Given the description of an element on the screen output the (x, y) to click on. 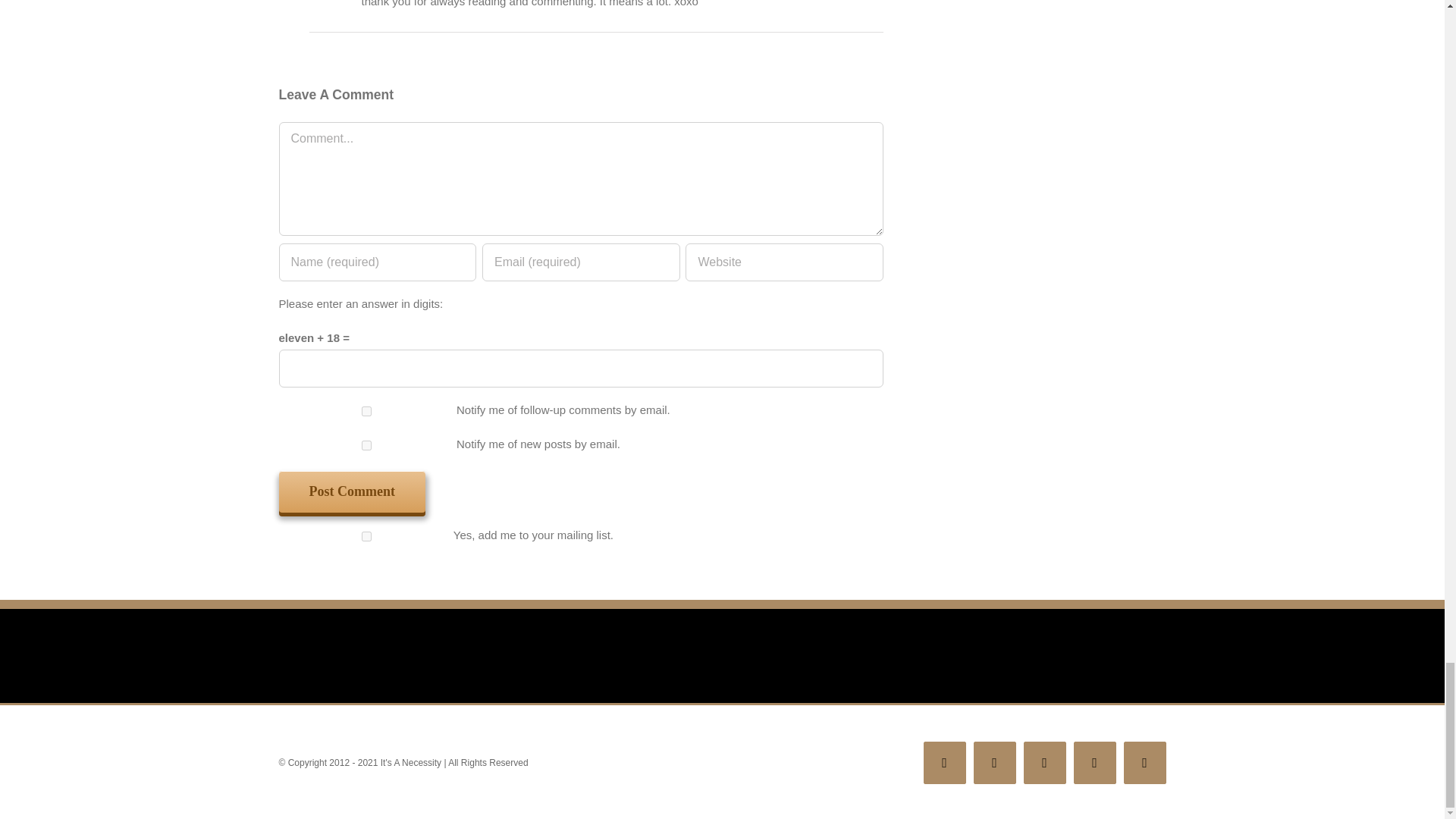
subscribe (366, 445)
subscribe (366, 411)
1 (366, 536)
Post Comment (352, 491)
